Given the description of an element on the screen output the (x, y) to click on. 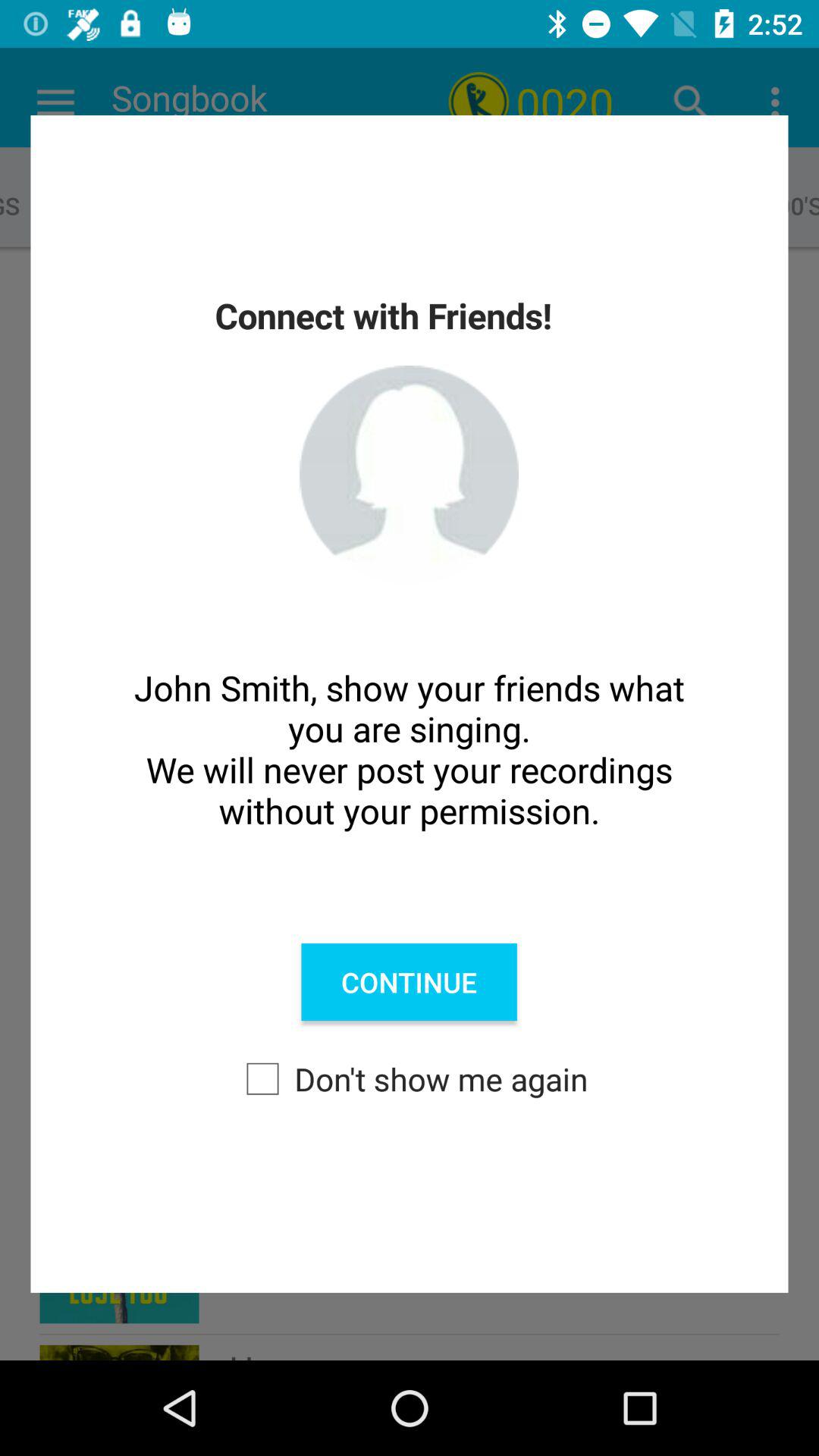
turn off the don t show item (409, 1078)
